Given the description of an element on the screen output the (x, y) to click on. 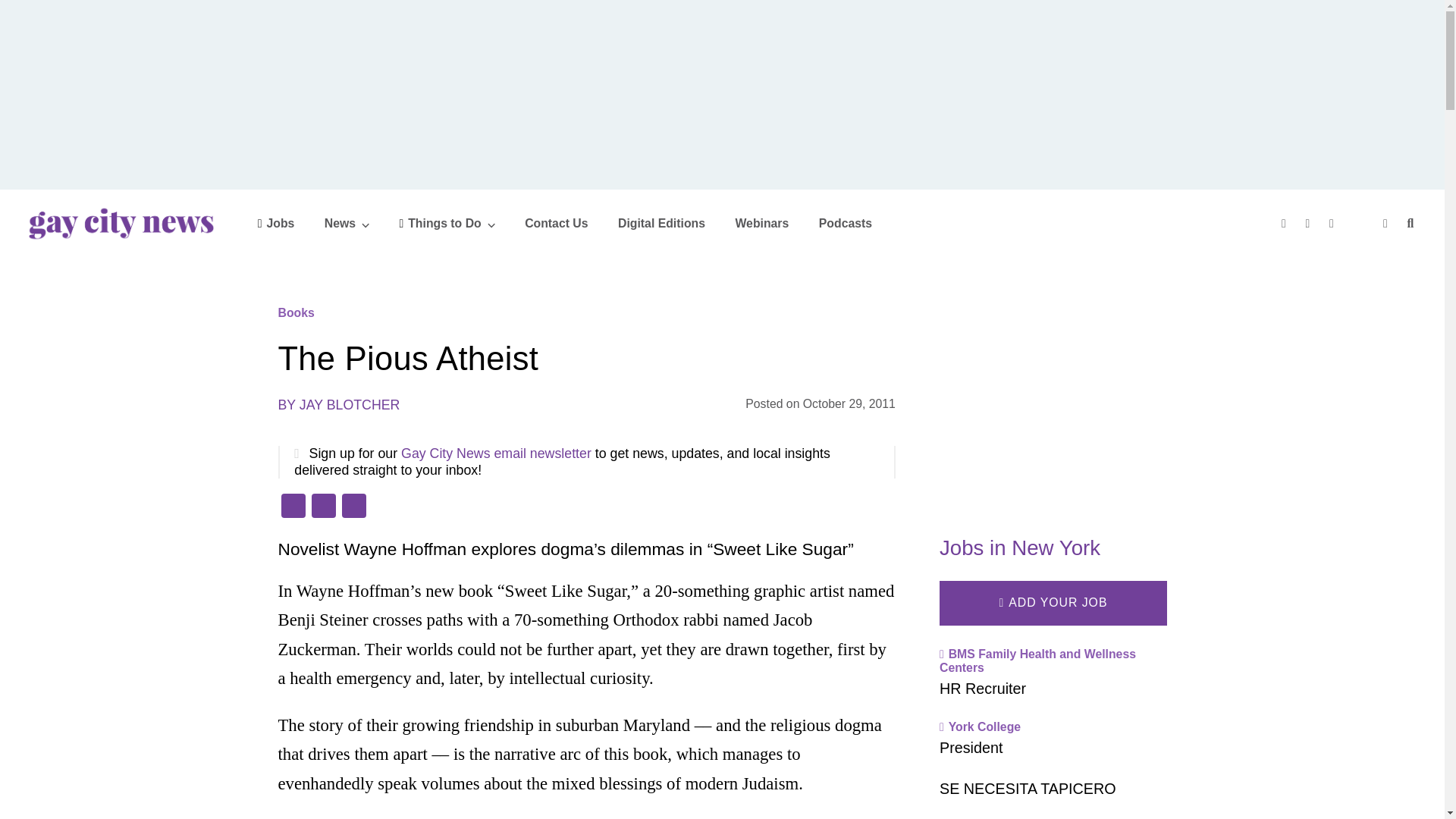
Twitter (322, 507)
Podcasts (845, 223)
Facebook (292, 507)
Things to Do (446, 223)
Contact Us (556, 223)
Digital Editions (660, 223)
Jobs (276, 223)
Webinars (762, 223)
News (346, 223)
